Given the description of an element on the screen output the (x, y) to click on. 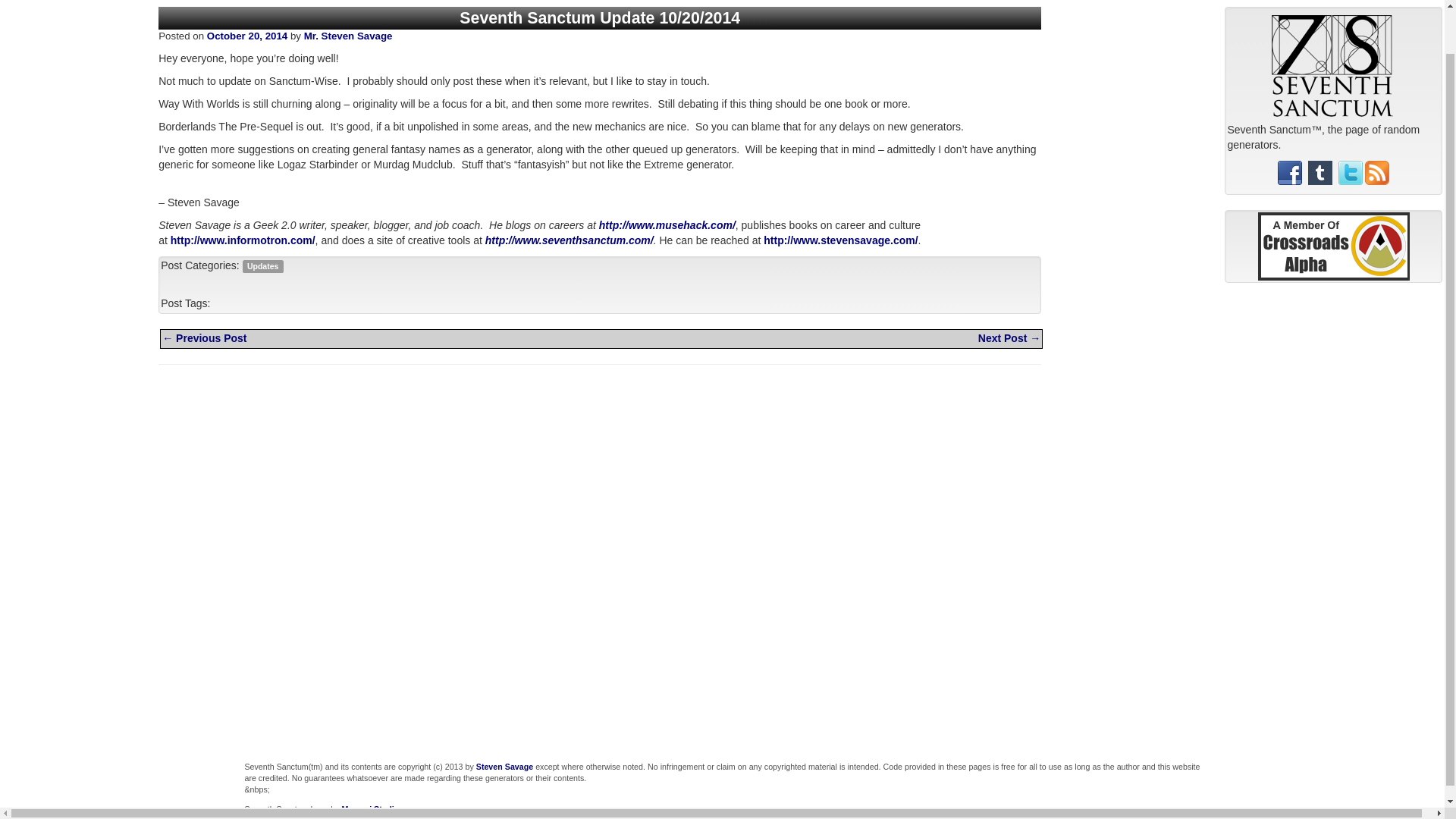
View all posts in Updates (262, 266)
View all posts by Mr. Steven Savage (348, 35)
Mr. Steven Savage (348, 35)
October 20, 2014 (246, 35)
